Given the description of an element on the screen output the (x, y) to click on. 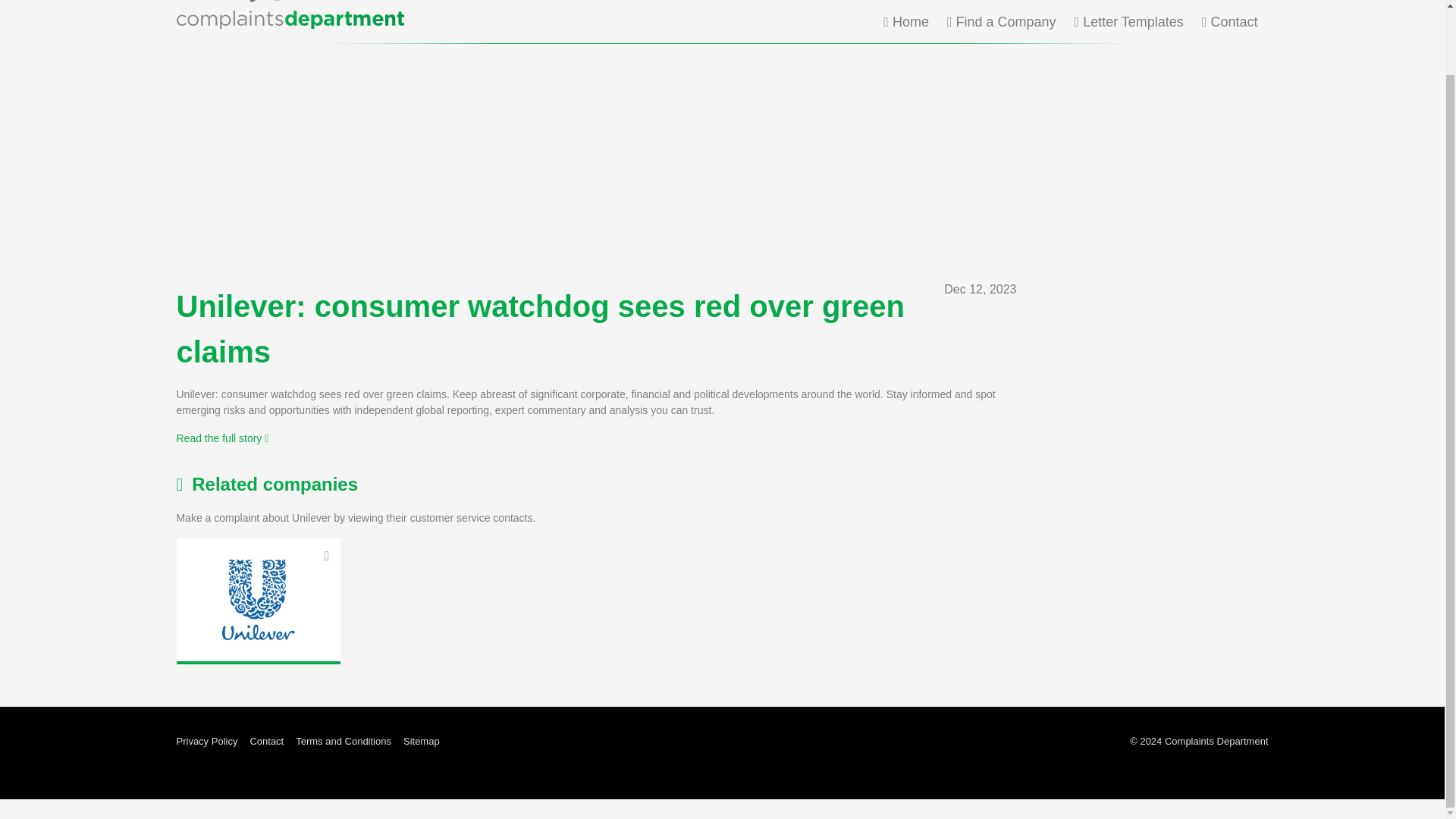
Privacy Policy (206, 741)
Home (905, 21)
Letter Templates (1128, 21)
Contact (1229, 21)
Sitemap (421, 741)
Contact (265, 741)
Terms and Conditions (343, 741)
Read the full story (221, 438)
Find a Company (1002, 21)
Unilever Complaints (257, 599)
